Given the description of an element on the screen output the (x, y) to click on. 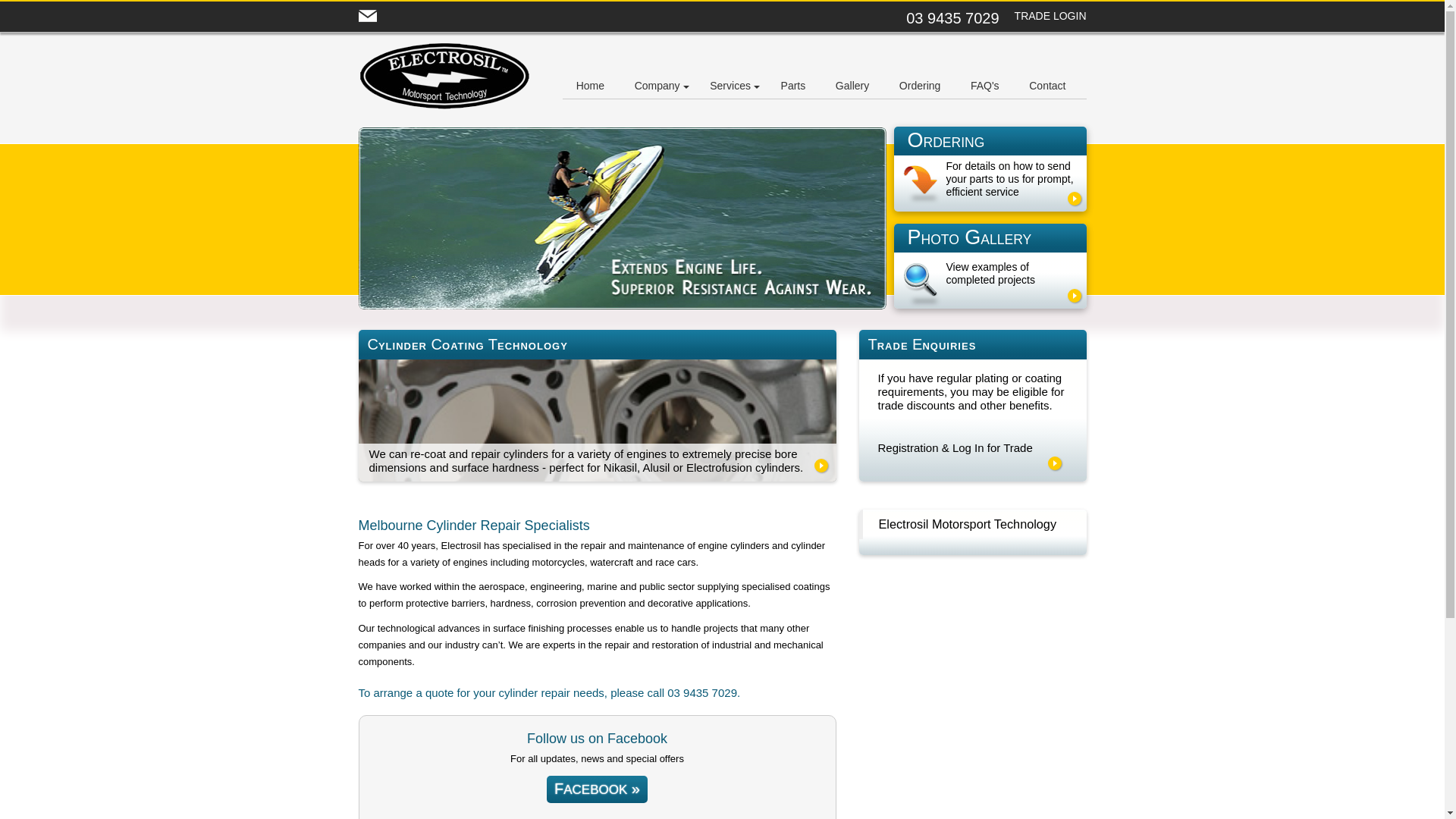
PHOTO GALLERY
View examples of completed projects
more Element type: text (989, 265)
03 9435 7029 Element type: text (952, 17)
Services Element type: text (729, 85)
Parts Element type: text (793, 85)
Contact Element type: text (1046, 85)
Electrosil Motorsport Technology Element type: text (967, 523)
Ordering Element type: text (919, 85)
Registration & Log In for Trade Element type: text (955, 447)
03 9435 7029 Element type: text (702, 692)
more Element type: text (1054, 463)
FAQ's Element type: text (984, 85)
Home Element type: text (590, 85)
Company Element type: text (657, 85)
Gallery Element type: text (852, 85)
TRADE LOGIN Element type: text (1050, 16)
